Given the description of an element on the screen output the (x, y) to click on. 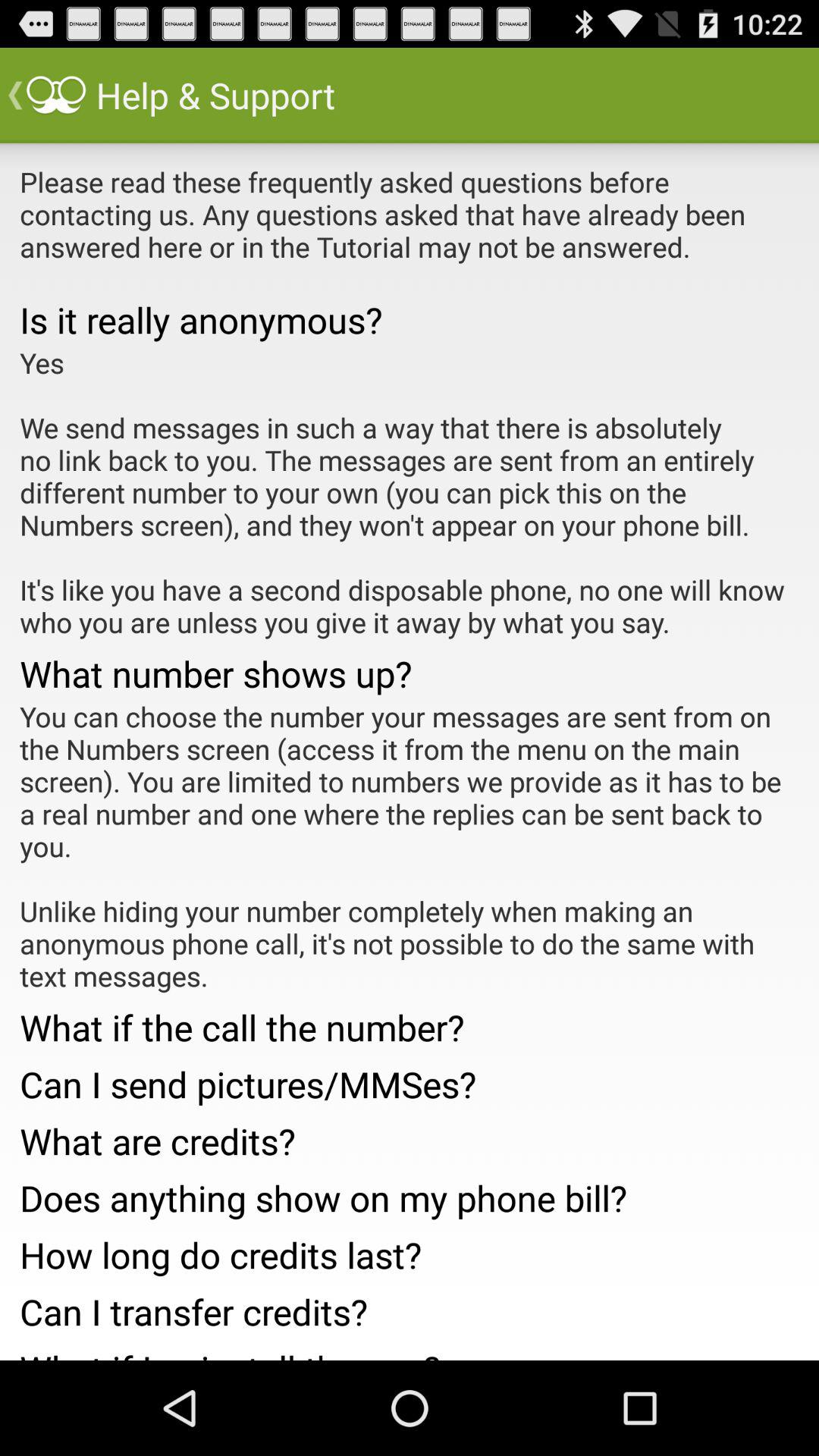
tap the what are credits? app (409, 1136)
